Given the description of an element on the screen output the (x, y) to click on. 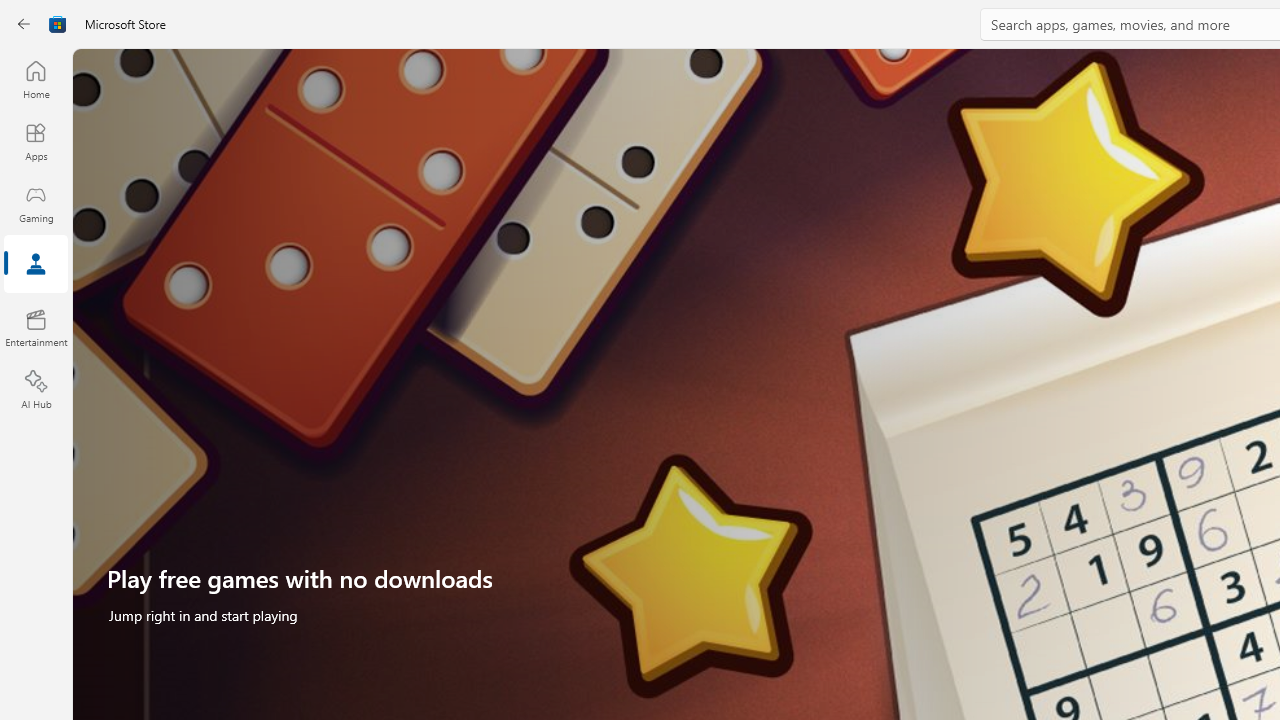
AI Hub (35, 390)
Gaming (35, 203)
Apps (35, 141)
Arcade (35, 265)
Entertainment (35, 327)
Class: Image (58, 24)
Home (35, 79)
Back (24, 24)
